Given the description of an element on the screen output the (x, y) to click on. 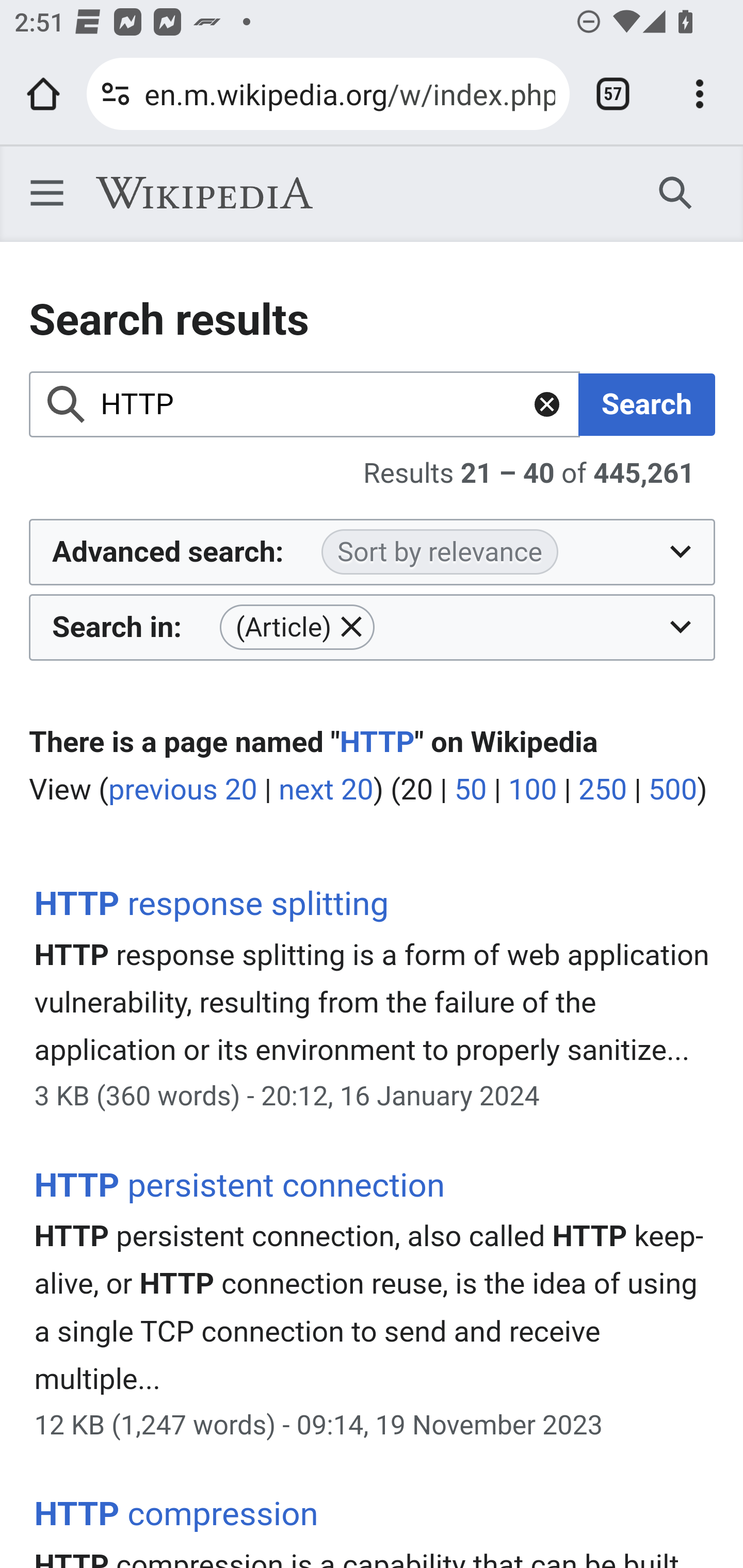
Open the home page (43, 93)
Connection is secure (115, 93)
Switch or close tabs (612, 93)
Customize and control Google Chrome (699, 93)
